Given the description of an element on the screen output the (x, y) to click on. 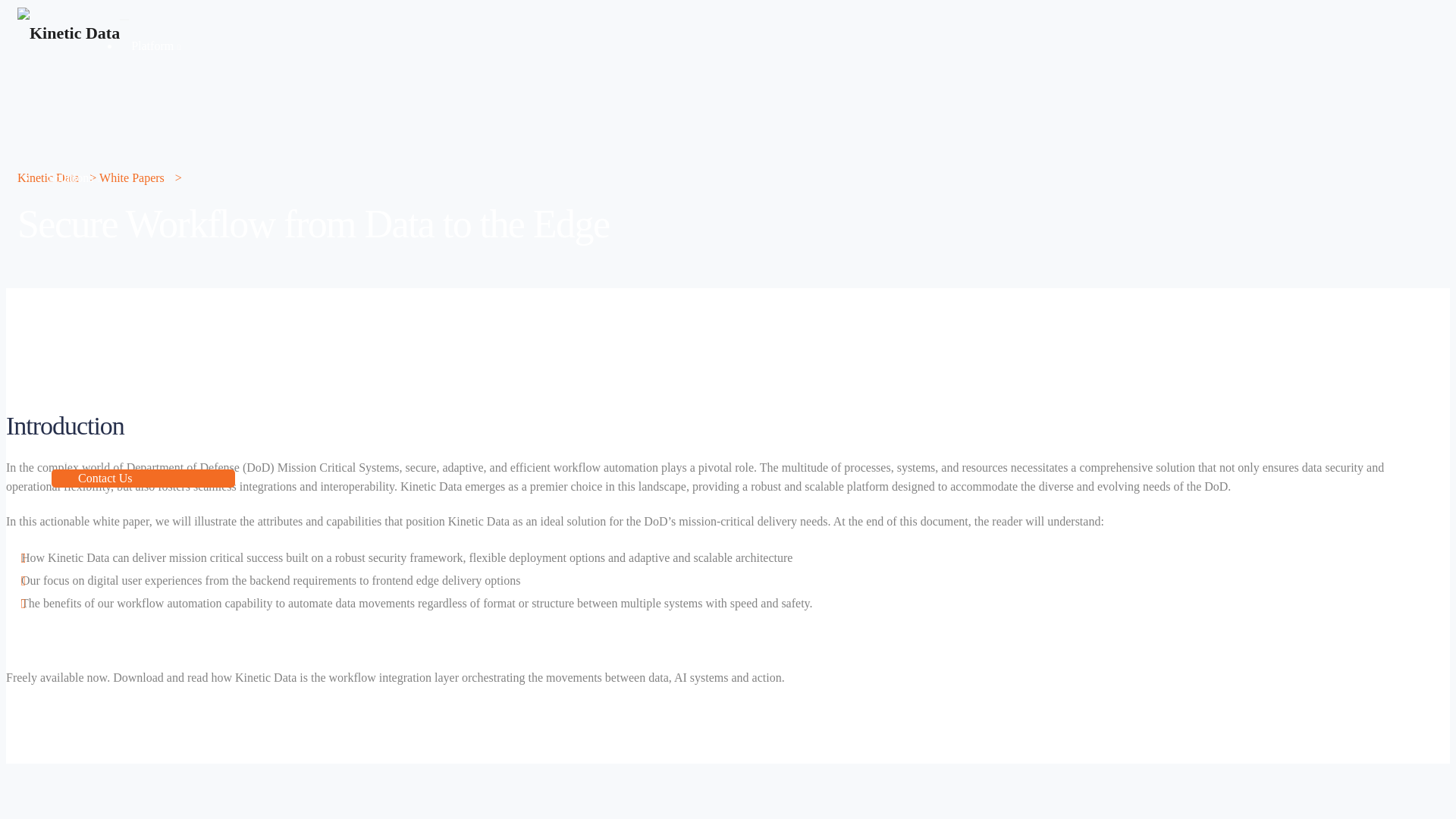
Resources (76, 326)
Platform (155, 45)
White Papers (131, 177)
Solutions (74, 176)
Kinetic Data (47, 177)
Contact Us (104, 478)
Platform (155, 45)
Partners (67, 459)
Solutions (74, 176)
Resources (76, 326)
